Given the description of an element on the screen output the (x, y) to click on. 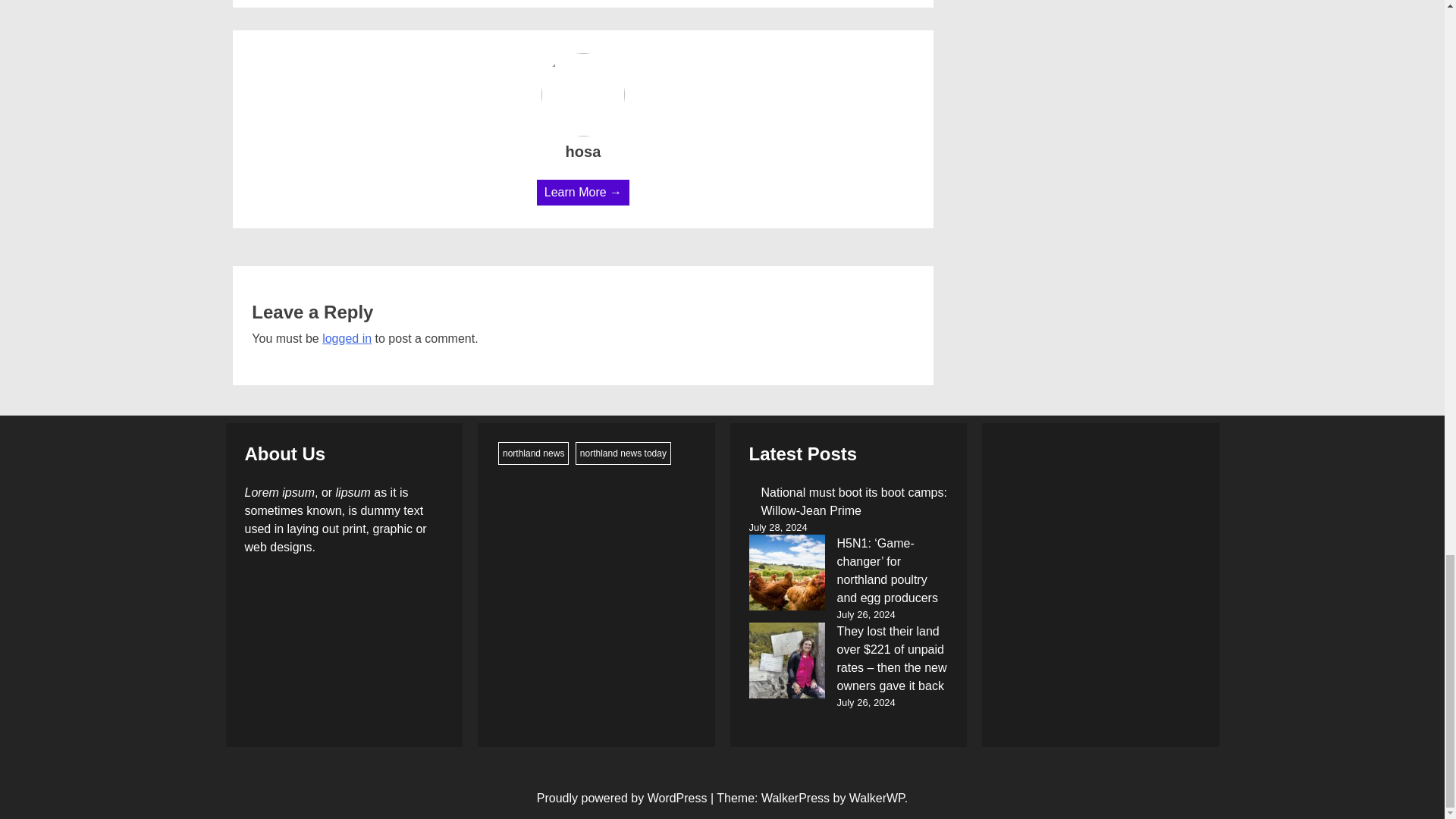
logged in (346, 338)
